Given the description of an element on the screen output the (x, y) to click on. 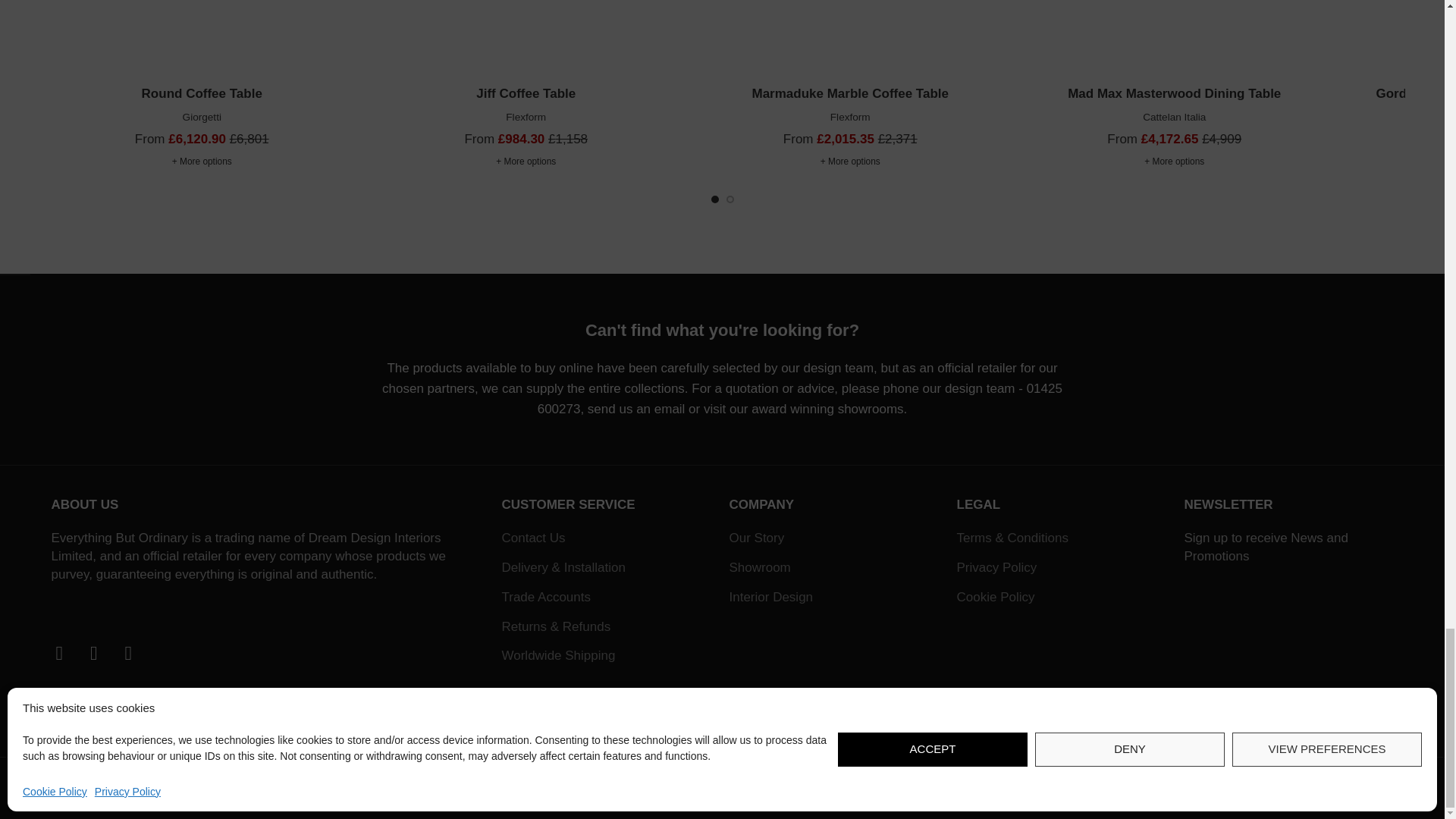
Form 1 (1287, 654)
